Given the description of an element on the screen output the (x, y) to click on. 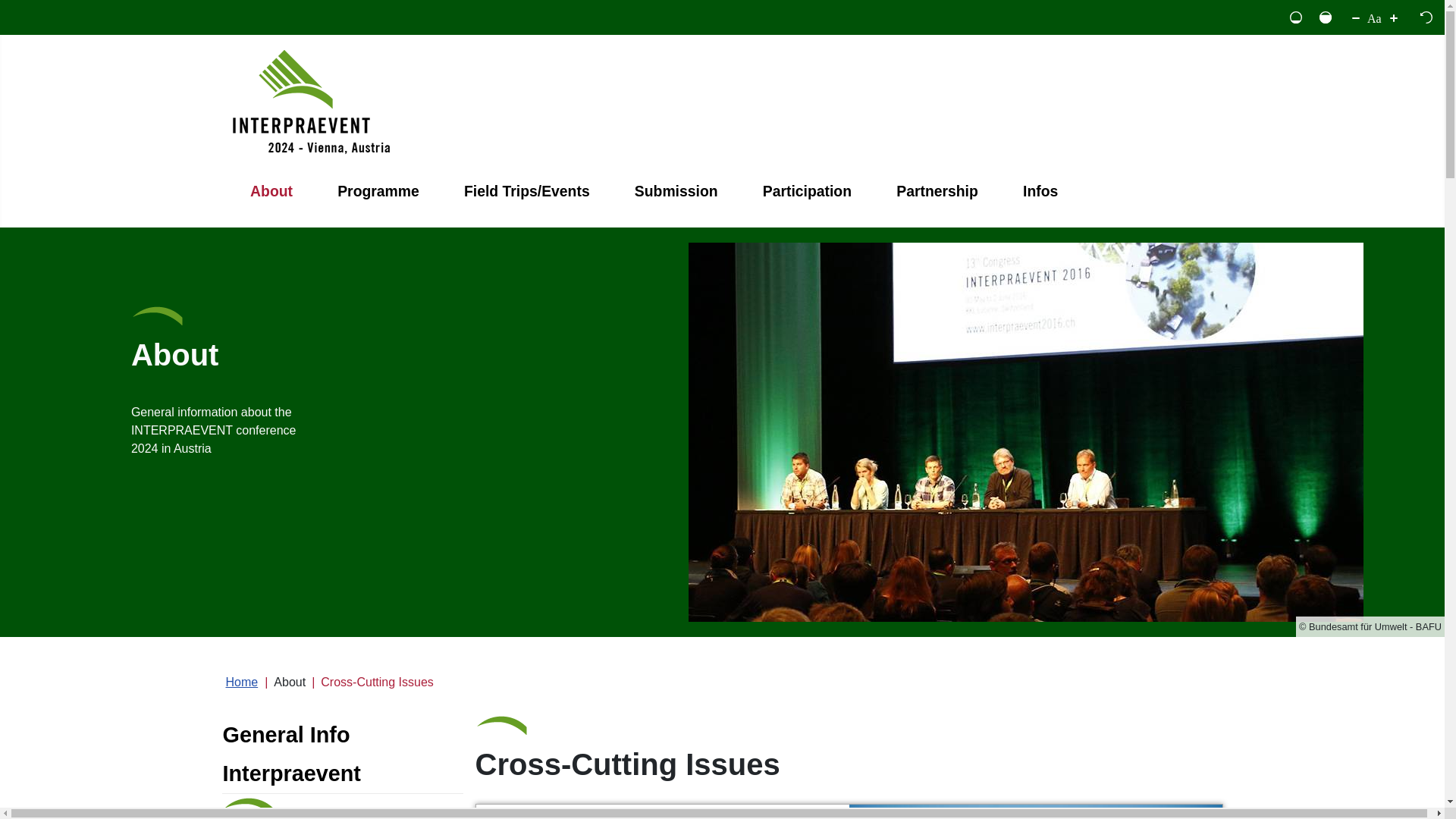
Programme (378, 191)
About (271, 191)
Aa (1374, 17)
